Given the description of an element on the screen output the (x, y) to click on. 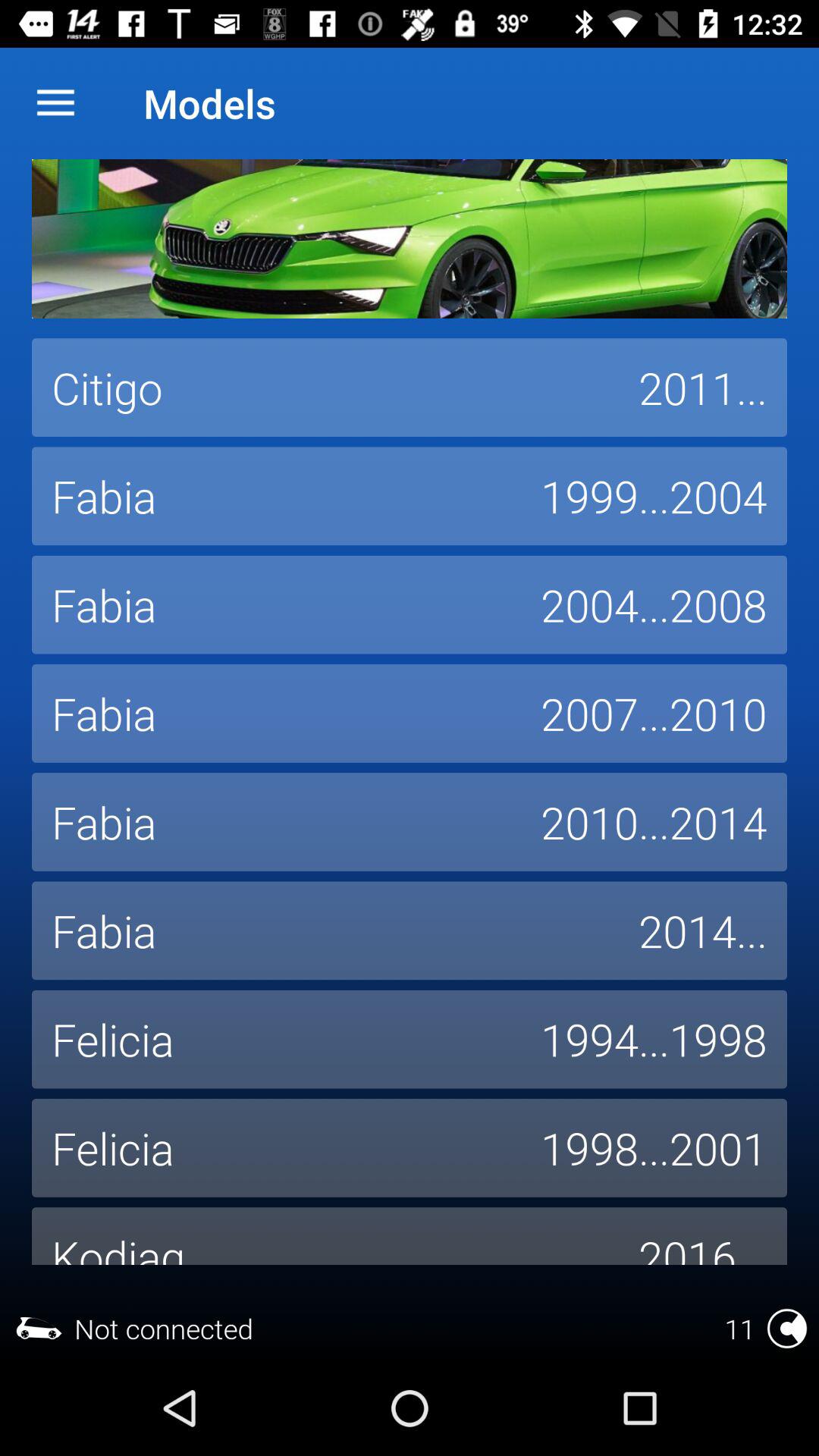
tap icon next to the models item (55, 103)
